Given the description of an element on the screen output the (x, y) to click on. 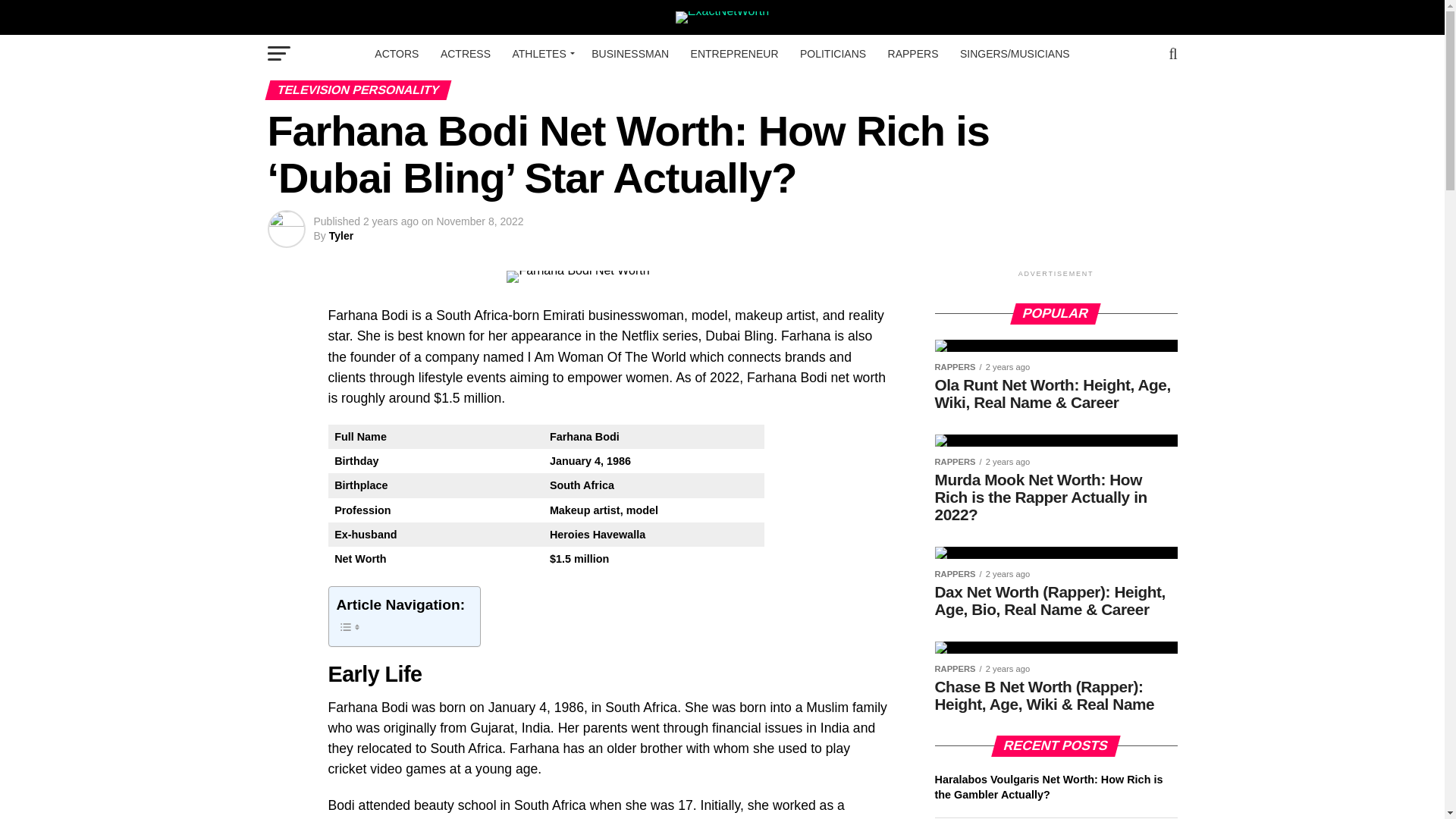
Posts by Tyler (341, 235)
ACTRESS (464, 53)
ATHLETES (540, 53)
ACTORS (396, 53)
